Given the description of an element on the screen output the (x, y) to click on. 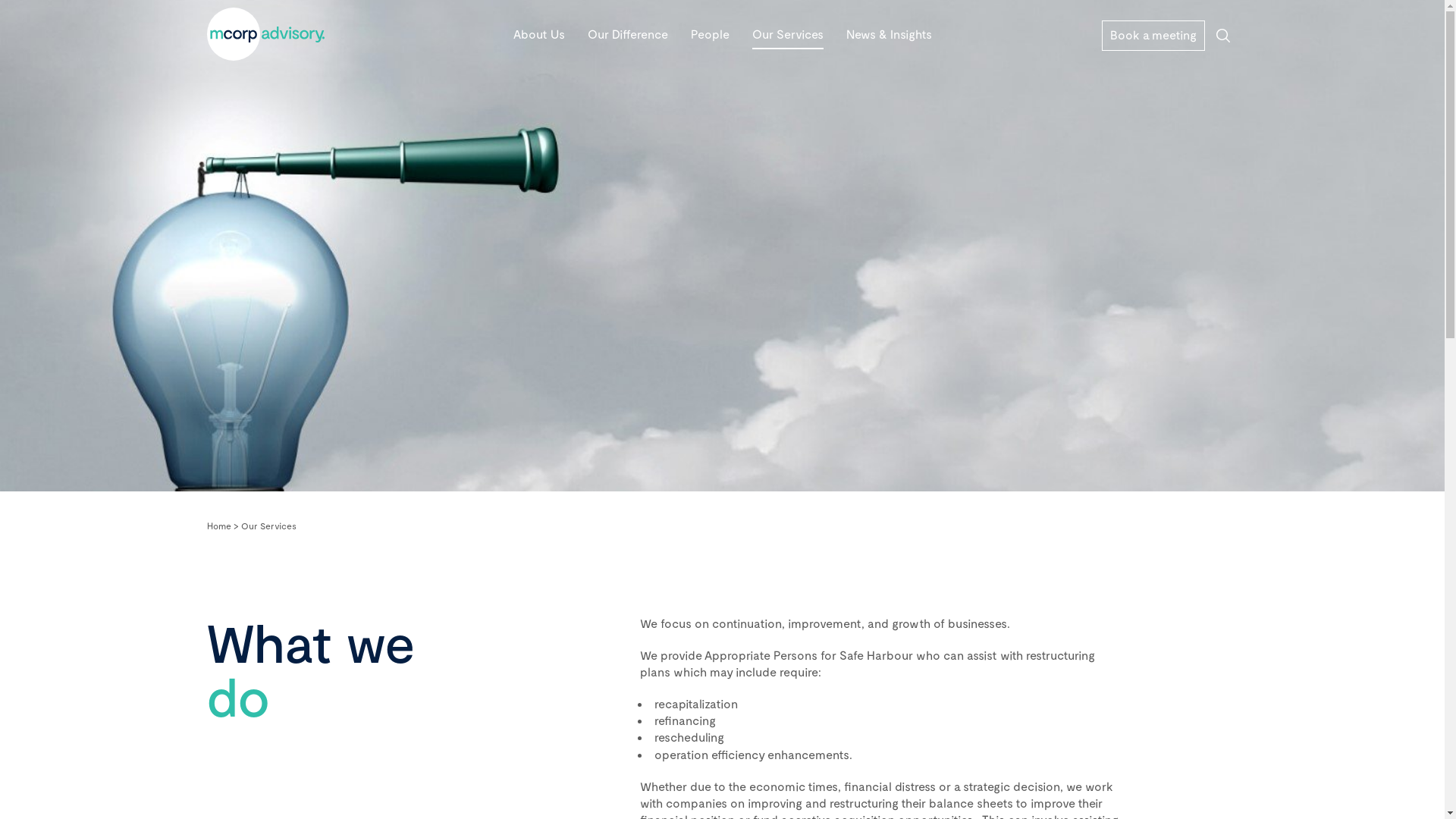
News & Insights Element type: text (888, 34)
People Element type: text (709, 34)
Book a meeting Element type: text (1152, 35)
Home Element type: text (218, 525)
Our Services Element type: text (787, 34)
About Us Element type: text (538, 34)
Our Difference Element type: text (626, 34)
